Given the description of an element on the screen output the (x, y) to click on. 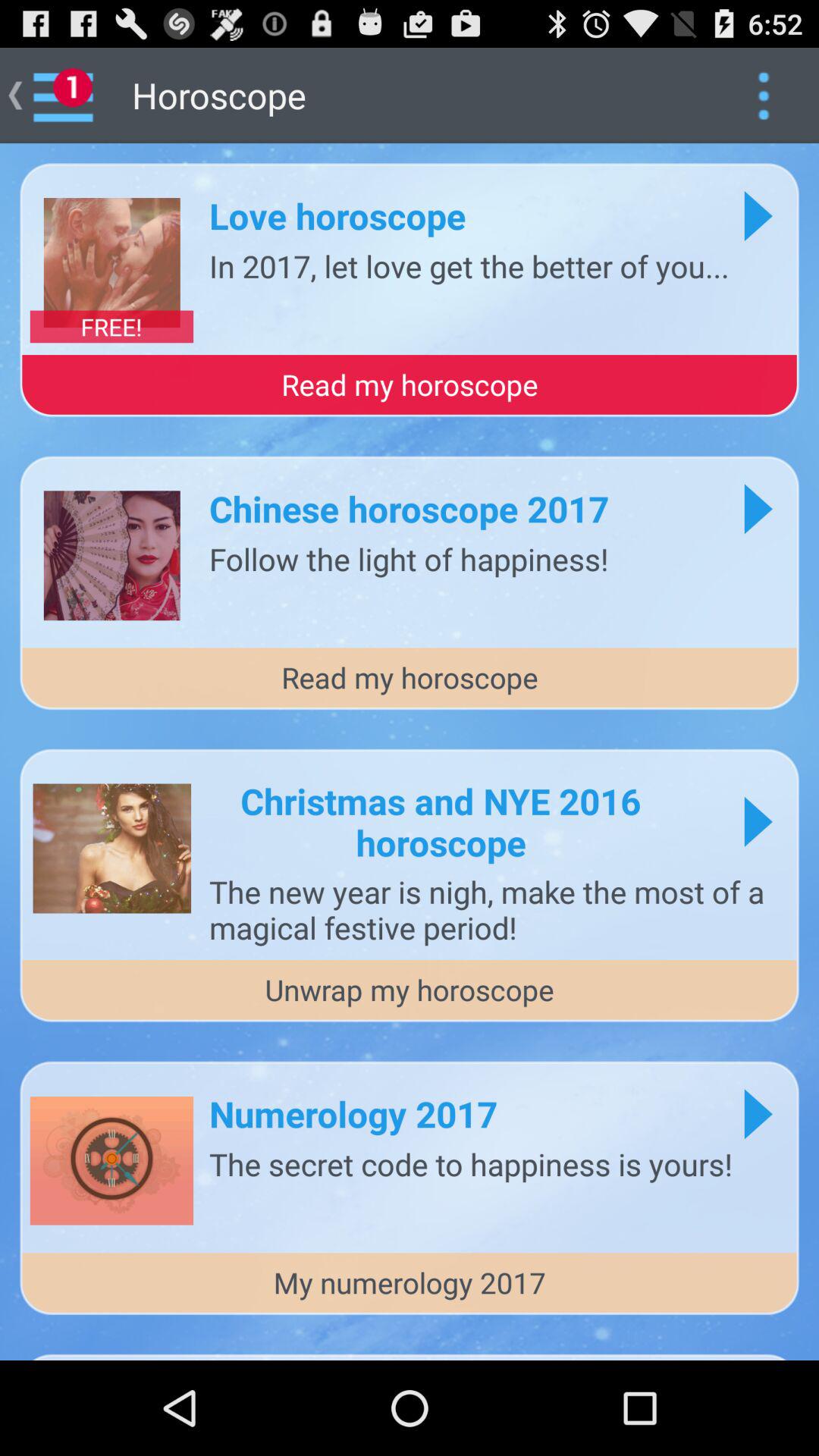
launch the app above in 2017 let icon (337, 215)
